Given the description of an element on the screen output the (x, y) to click on. 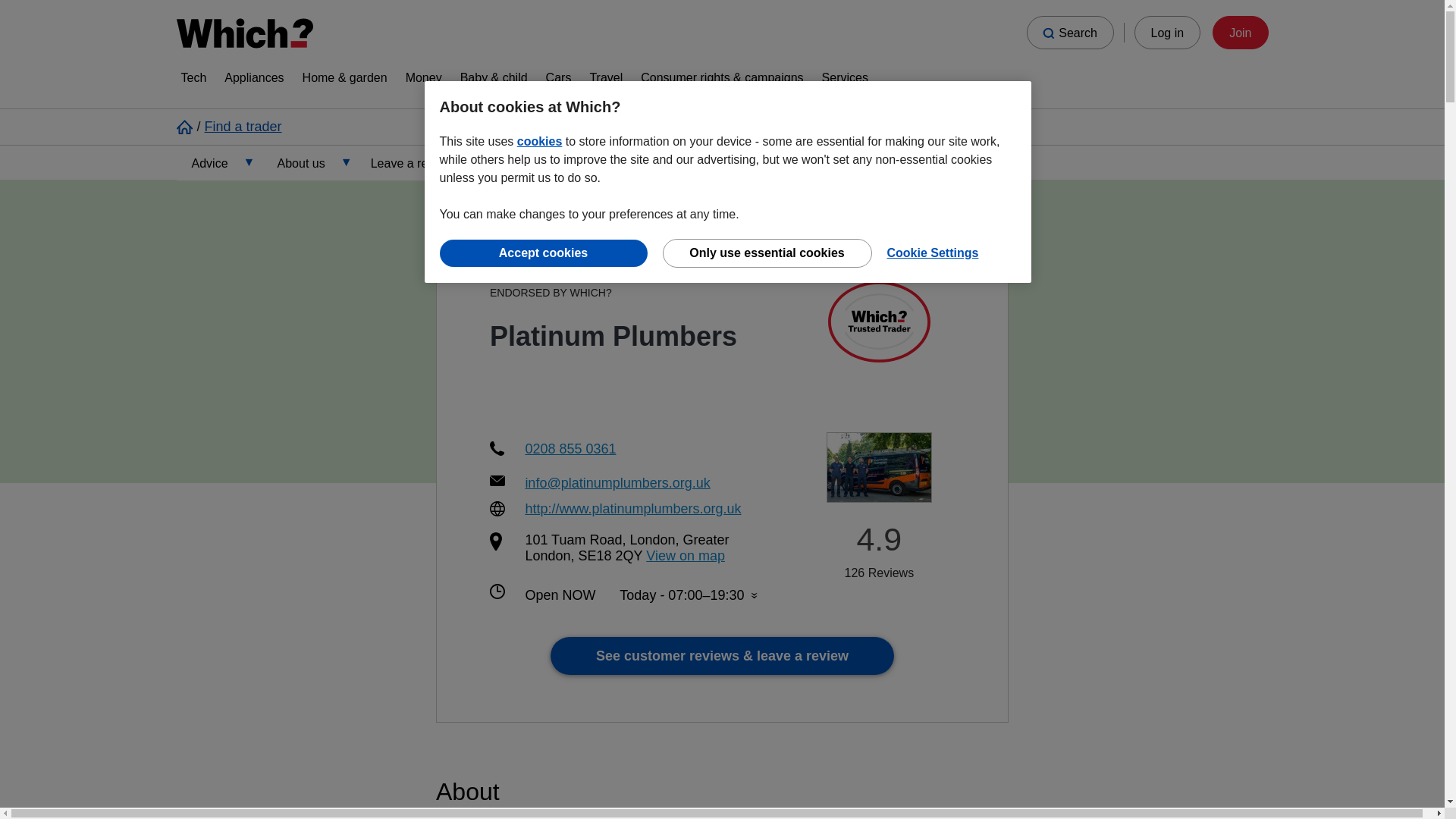
Search (1069, 32)
Join (1240, 32)
Log in (1167, 32)
Click to see all opening hours (689, 595)
Tech (193, 79)
